Given the description of an element on the screen output the (x, y) to click on. 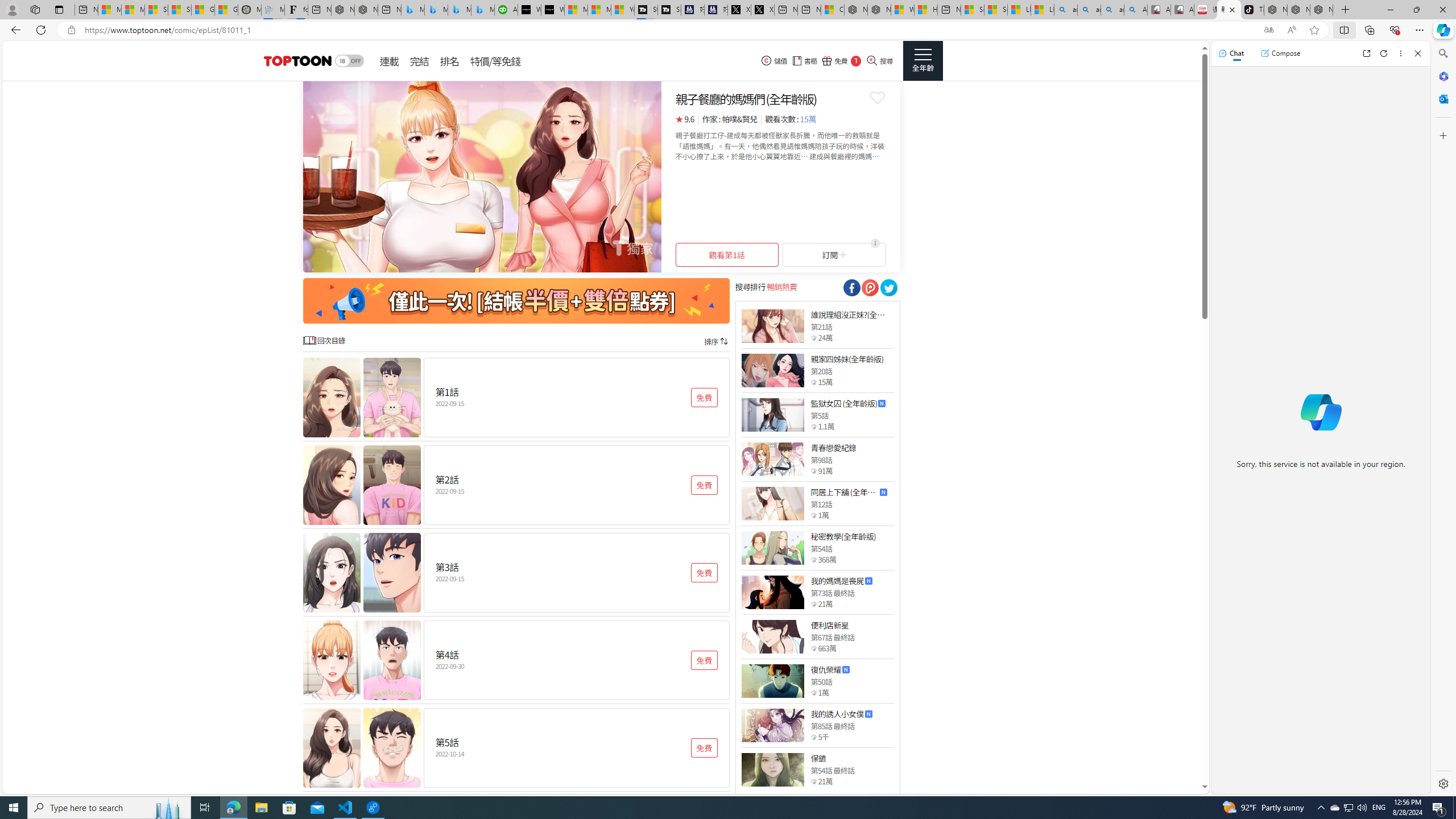
Huge shark washes ashore at New York City beach | Watch (926, 9)
Class: epicon_starpoint (813, 781)
header (295, 60)
Outlook (1442, 98)
Streaming Coverage | T3 (645, 9)
